Given the description of an element on the screen output the (x, y) to click on. 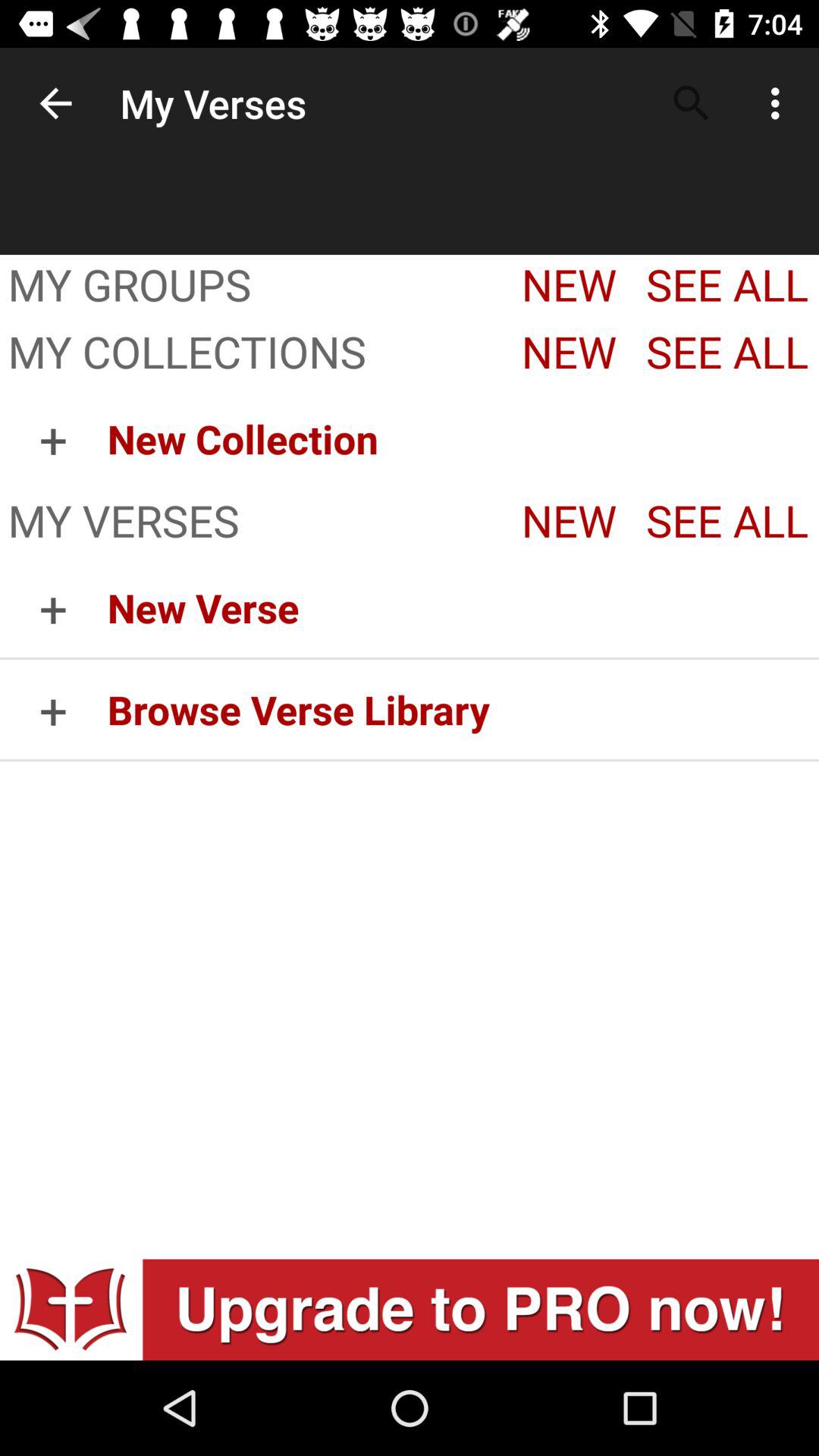
select new verse app (463, 607)
